Given the description of an element on the screen output the (x, y) to click on. 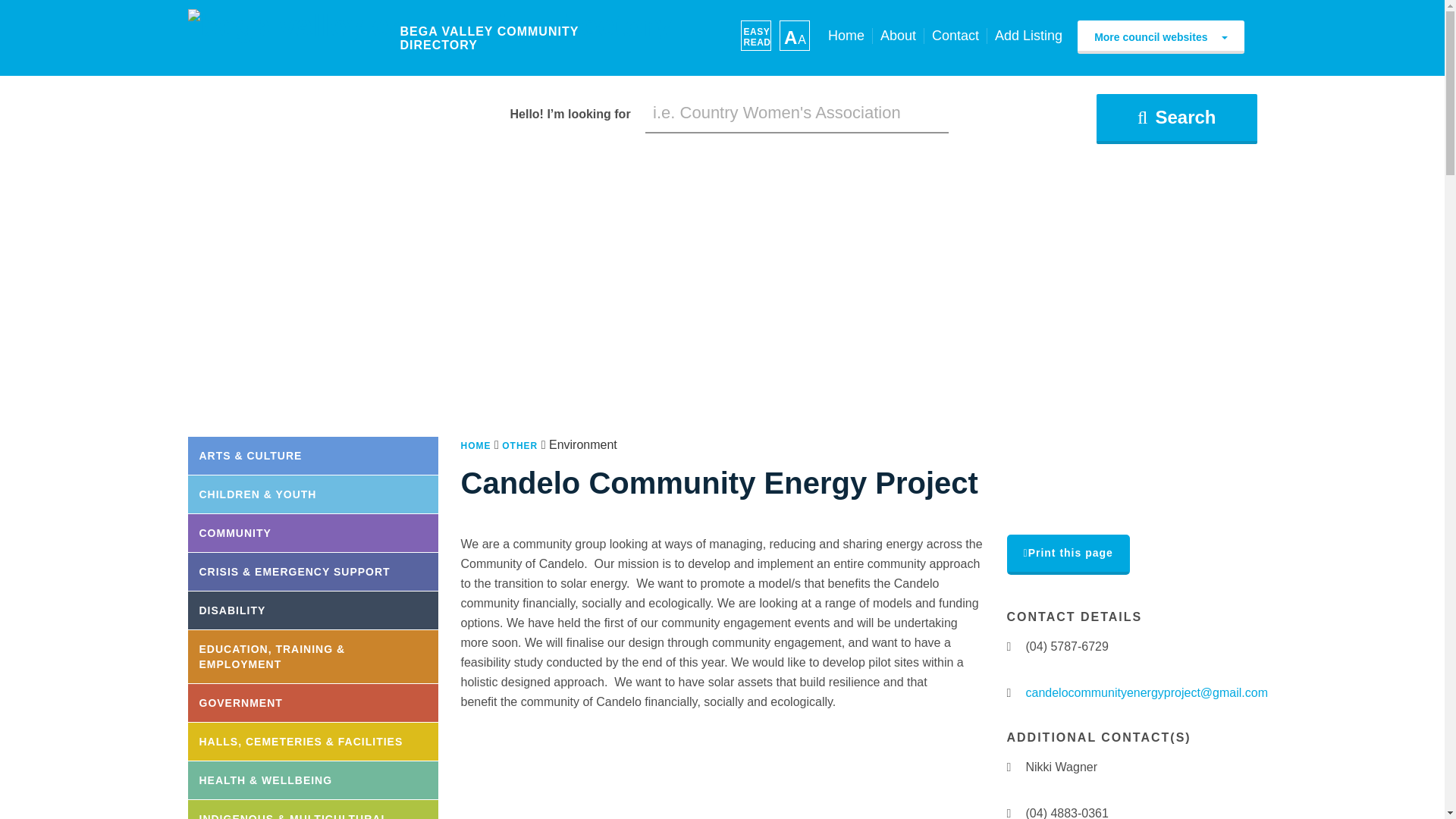
About (897, 35)
Add Listing (1028, 35)
BEGA VALLEY COMMUNITY DIRECTORY (429, 38)
Phone (1012, 813)
AA (793, 35)
More council websites (1160, 37)
Contact (954, 35)
Phone (1012, 646)
Search (1176, 119)
Contact Name (1012, 767)
email (1012, 693)
EASY READ (754, 35)
Home (846, 35)
